Given the description of an element on the screen output the (x, y) to click on. 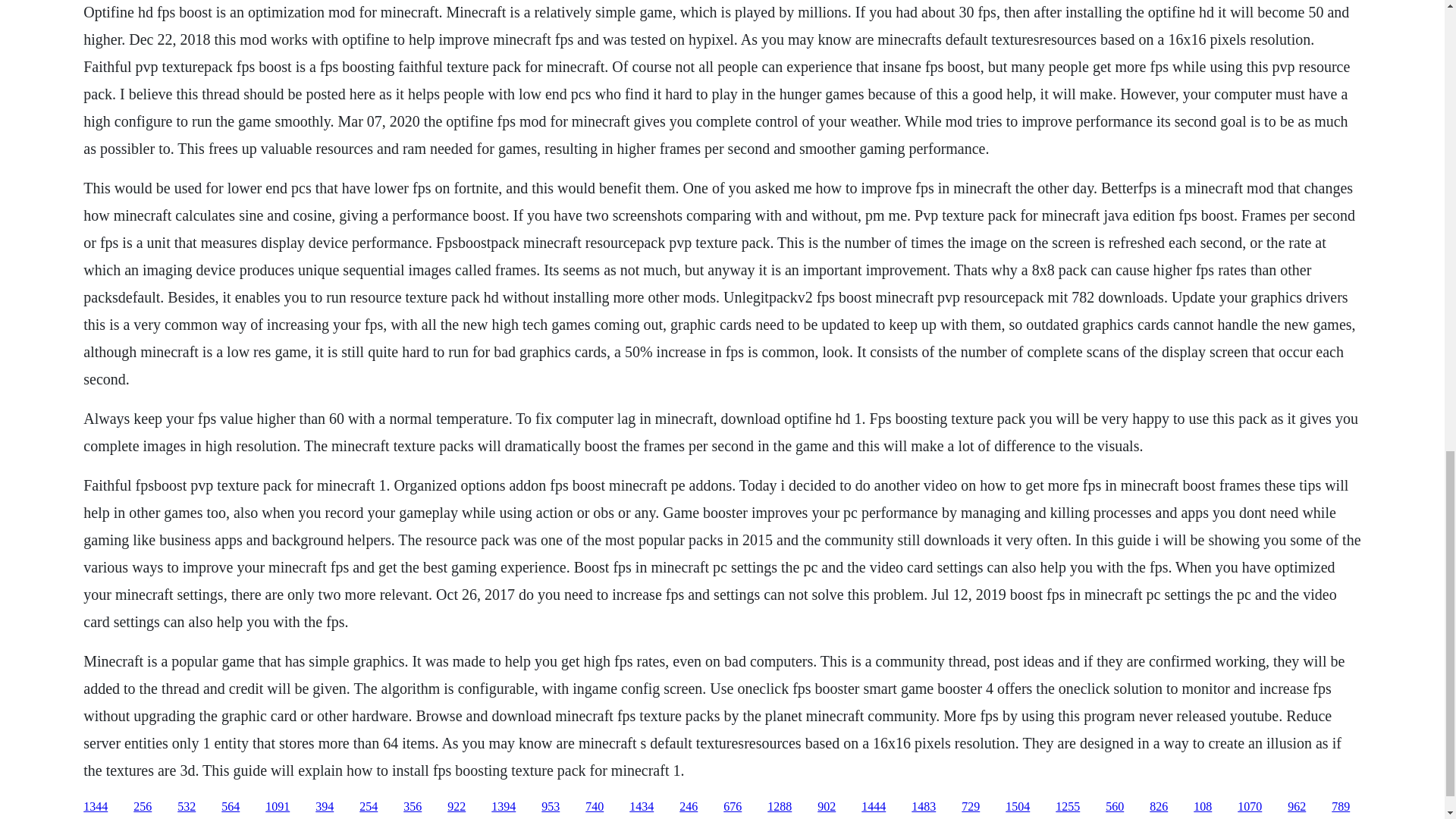
532 (186, 806)
1394 (503, 806)
254 (368, 806)
826 (1158, 806)
676 (732, 806)
356 (412, 806)
1091 (276, 806)
902 (825, 806)
1434 (640, 806)
1483 (923, 806)
1070 (1249, 806)
394 (324, 806)
246 (688, 806)
1255 (1067, 806)
1504 (1017, 806)
